Given the description of an element on the screen output the (x, y) to click on. 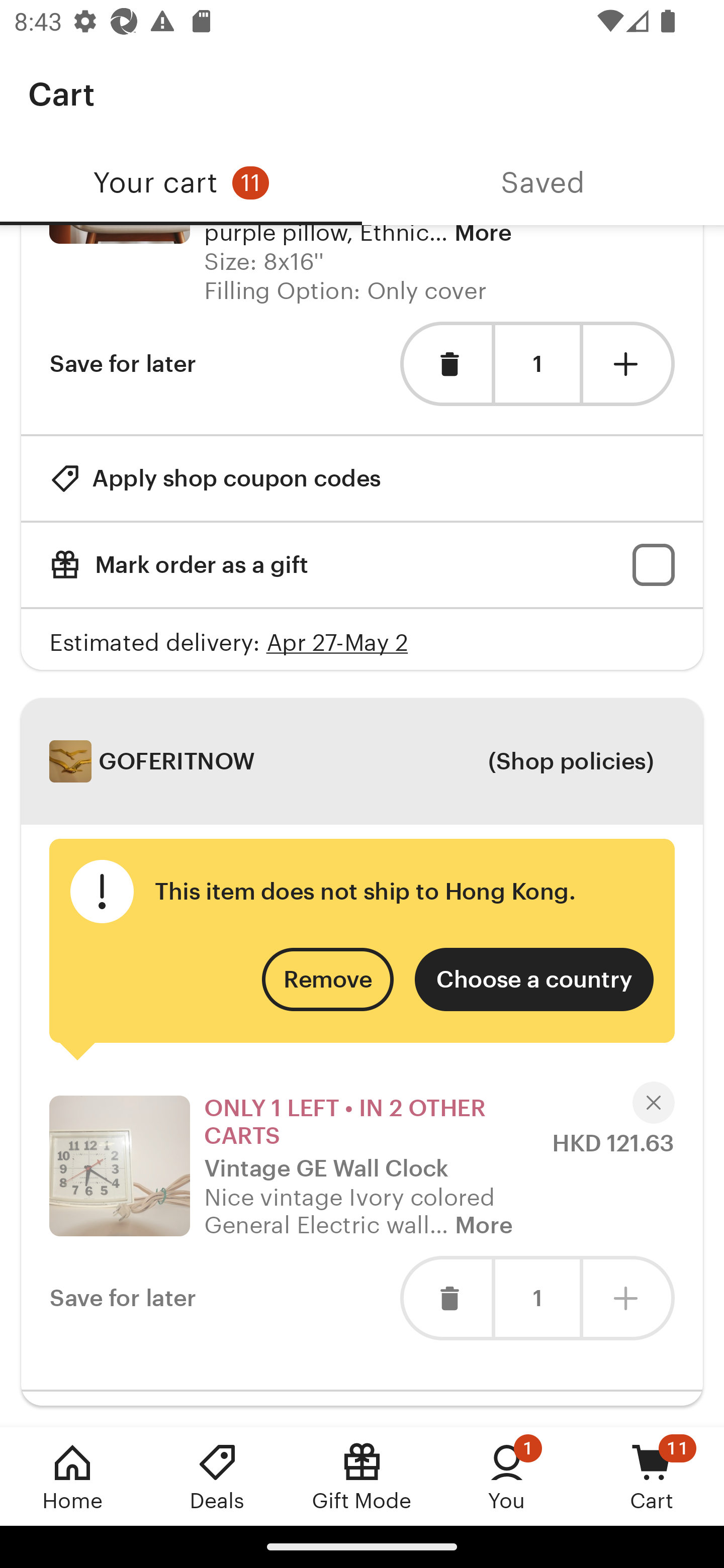
Saved, tab 2 of 2 Saved (543, 183)
Save for later (122, 363)
Remove item from cart (445, 363)
Add one unit to cart (628, 363)
1 (537, 363)
Apply shop coupon codes (215, 477)
Mark order as a gift (361, 564)
GOFERITNOW (Shop policies) (361, 760)
(Shop policies) (570, 760)
Remove (327, 979)
Choose a country (533, 979)
Home (72, 1475)
Deals (216, 1475)
Gift Mode (361, 1475)
You, 1 new notification You (506, 1475)
